Given the description of an element on the screen output the (x, y) to click on. 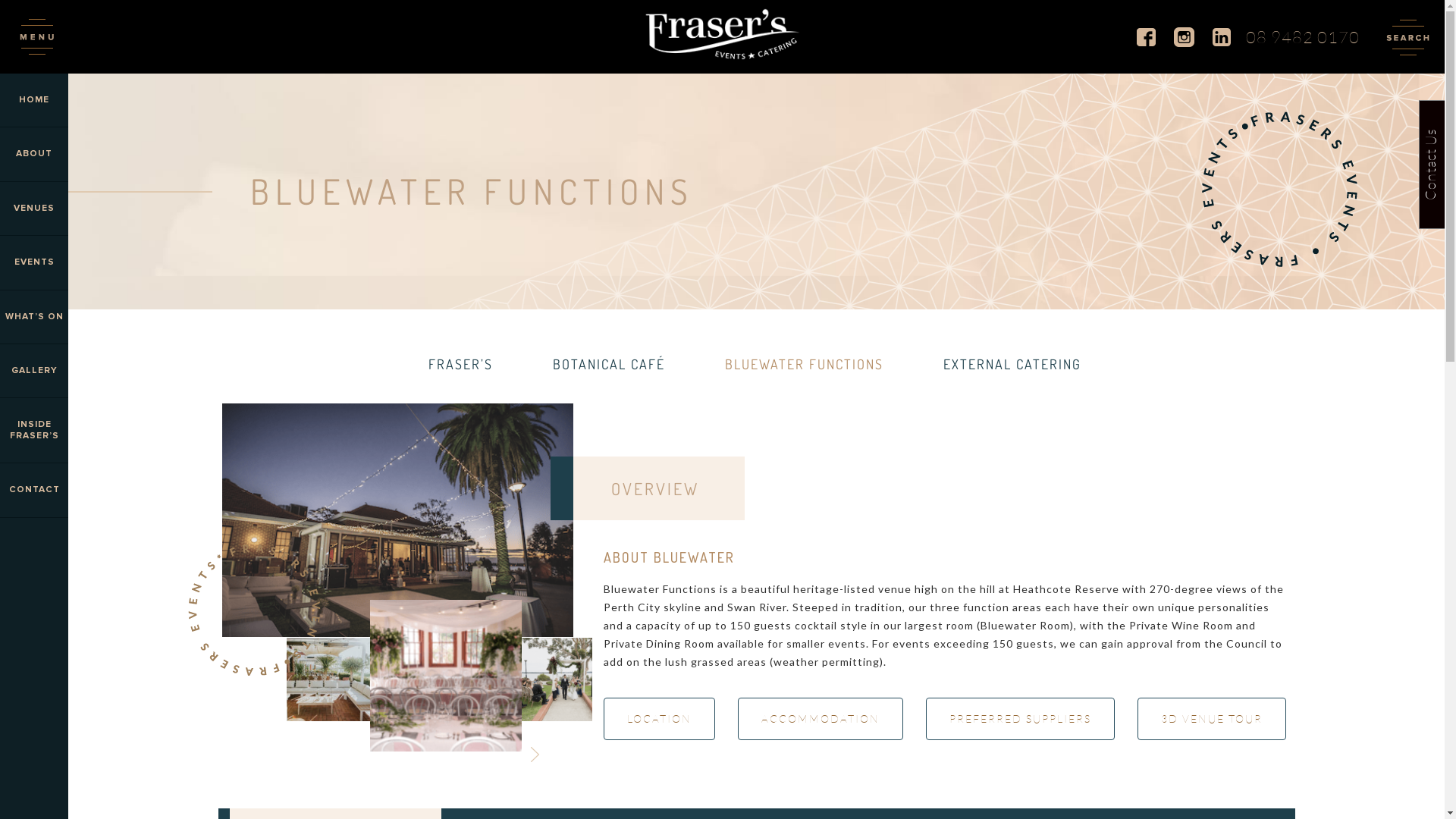
PREFERRED SUPPLIERS Element type: text (1019, 718)
GALLERY Element type: text (34, 371)
VENUES Element type: text (34, 208)
CONTACT Element type: text (34, 490)
Fraser's Group Element type: hover (722, 34)
BLUEWATER FUNCTIONS Element type: text (803, 363)
EXTERNAL CATERING Element type: text (1011, 363)
3D VENUE TOUR Element type: text (1211, 718)
LOCATION Element type: text (659, 718)
Next Element type: text (533, 754)
08 9482 0170 Element type: text (1302, 36)
ABOUT Element type: text (34, 154)
EVENTS Element type: text (34, 262)
ACCOMMODATION Element type: text (820, 718)
HOME Element type: text (34, 100)
